Given the description of an element on the screen output the (x, y) to click on. 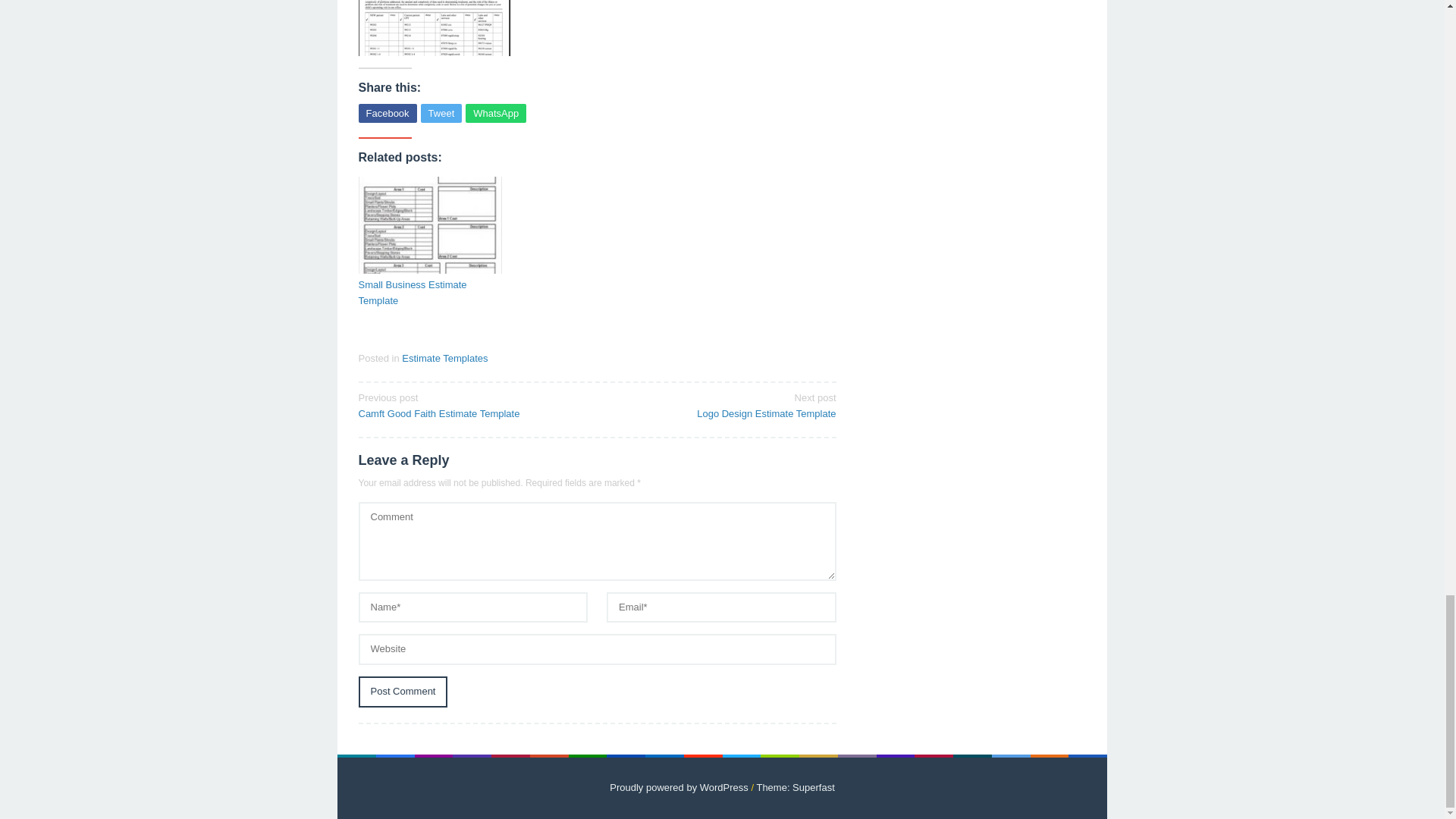
Estimate Templates (444, 357)
Permalink to: Small Business Estimate Template (430, 224)
Facebook (387, 113)
Share this (472, 404)
Post Comment (387, 113)
Theme: Superfast (402, 691)
WhatsApp (721, 404)
Post Comment (794, 787)
Tweet (495, 113)
Permalink to: Small Business Estimate Template (402, 691)
Tweet this (441, 113)
WhatsApp this (430, 293)
Small Business Estimate Template (441, 113)
